Given the description of an element on the screen output the (x, y) to click on. 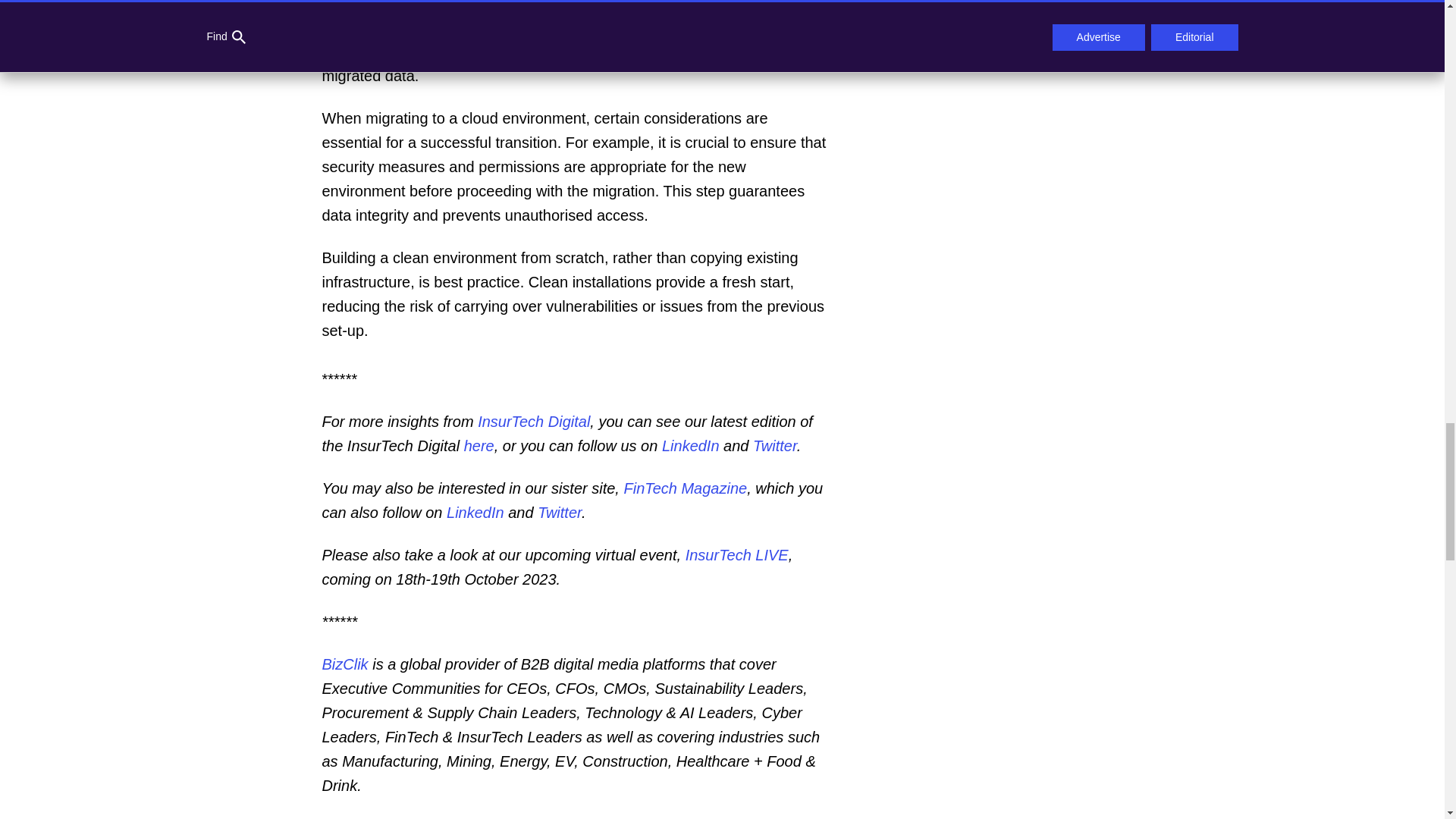
InsurTech LIVE (735, 555)
FinTech Magazine (683, 487)
LinkedIn (688, 445)
InsurTech Digital (532, 421)
LinkedIn (472, 512)
Twitter (557, 512)
Twitter (774, 445)
BizClik (344, 664)
here (477, 445)
